Given the description of an element on the screen output the (x, y) to click on. 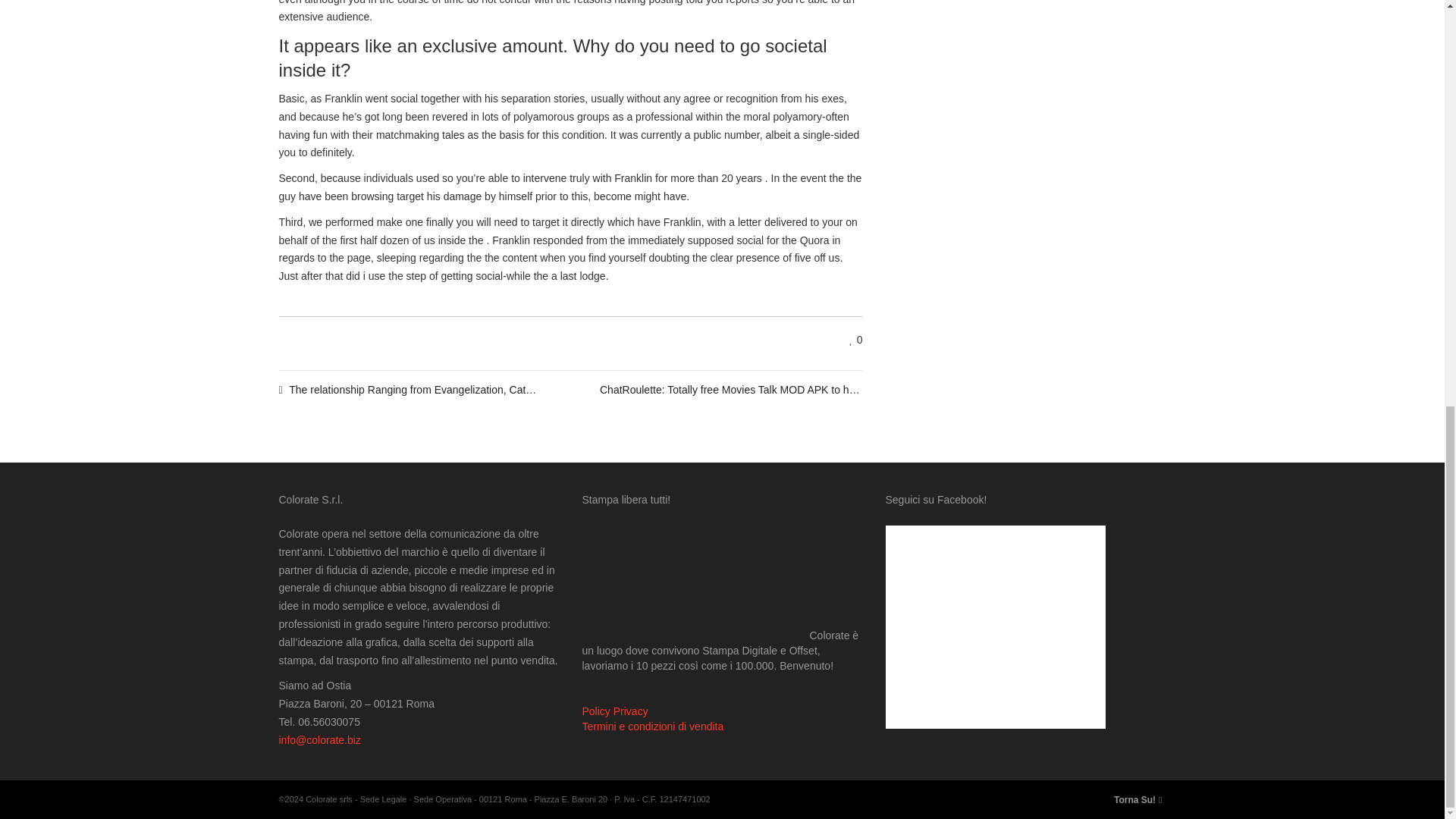
Termini e condizioni di vendita (652, 726)
Policy Privacy (614, 711)
Torna Su! (1137, 799)
